Given the description of an element on the screen output the (x, y) to click on. 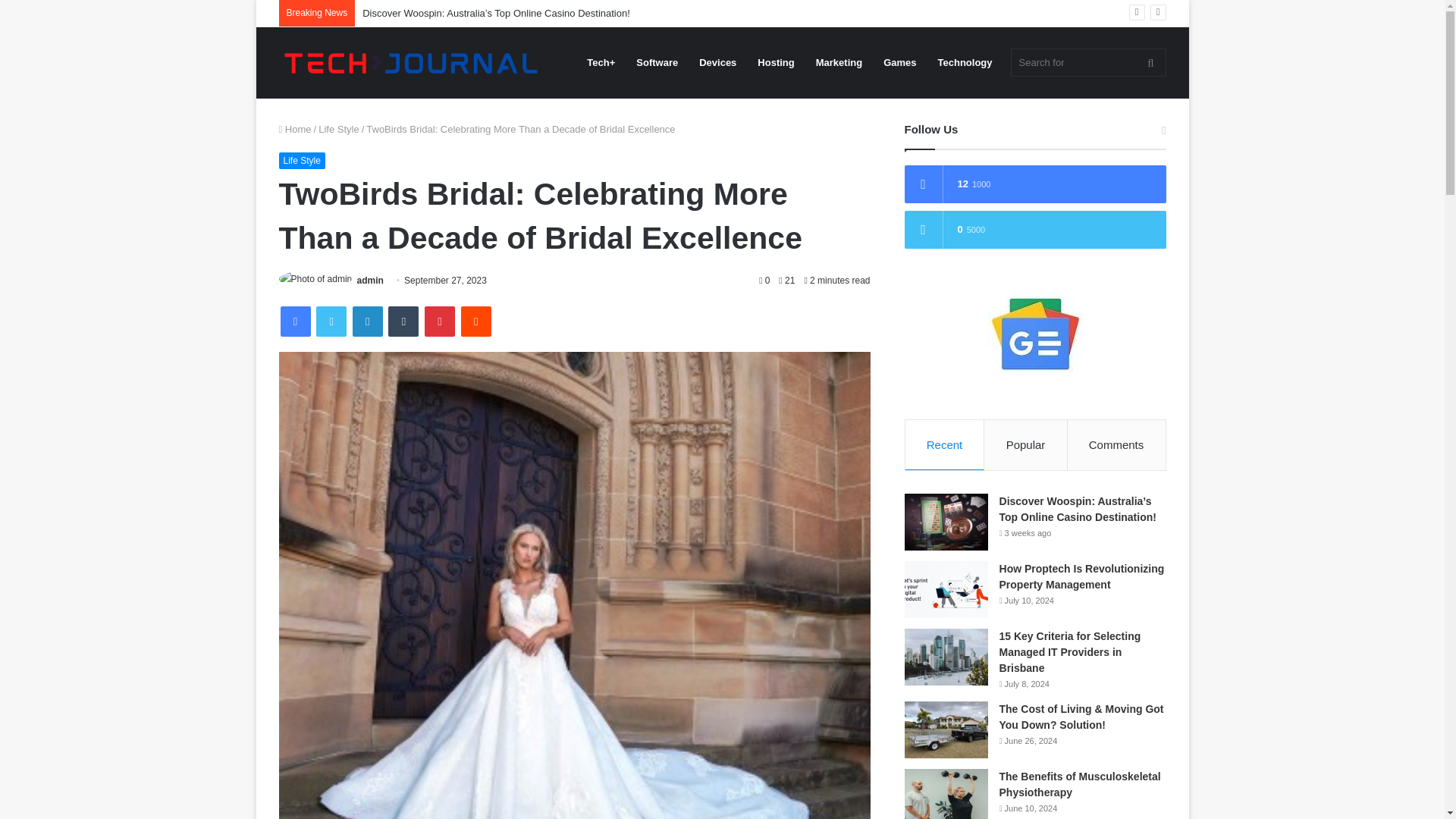
Marketing (838, 62)
admin (370, 280)
admin (370, 280)
Reddit (476, 321)
Tumblr (403, 321)
Technology (965, 62)
Search for (1088, 62)
Tumblr (403, 321)
LinkedIn (367, 321)
Facebook (296, 321)
